Given the description of an element on the screen output the (x, y) to click on. 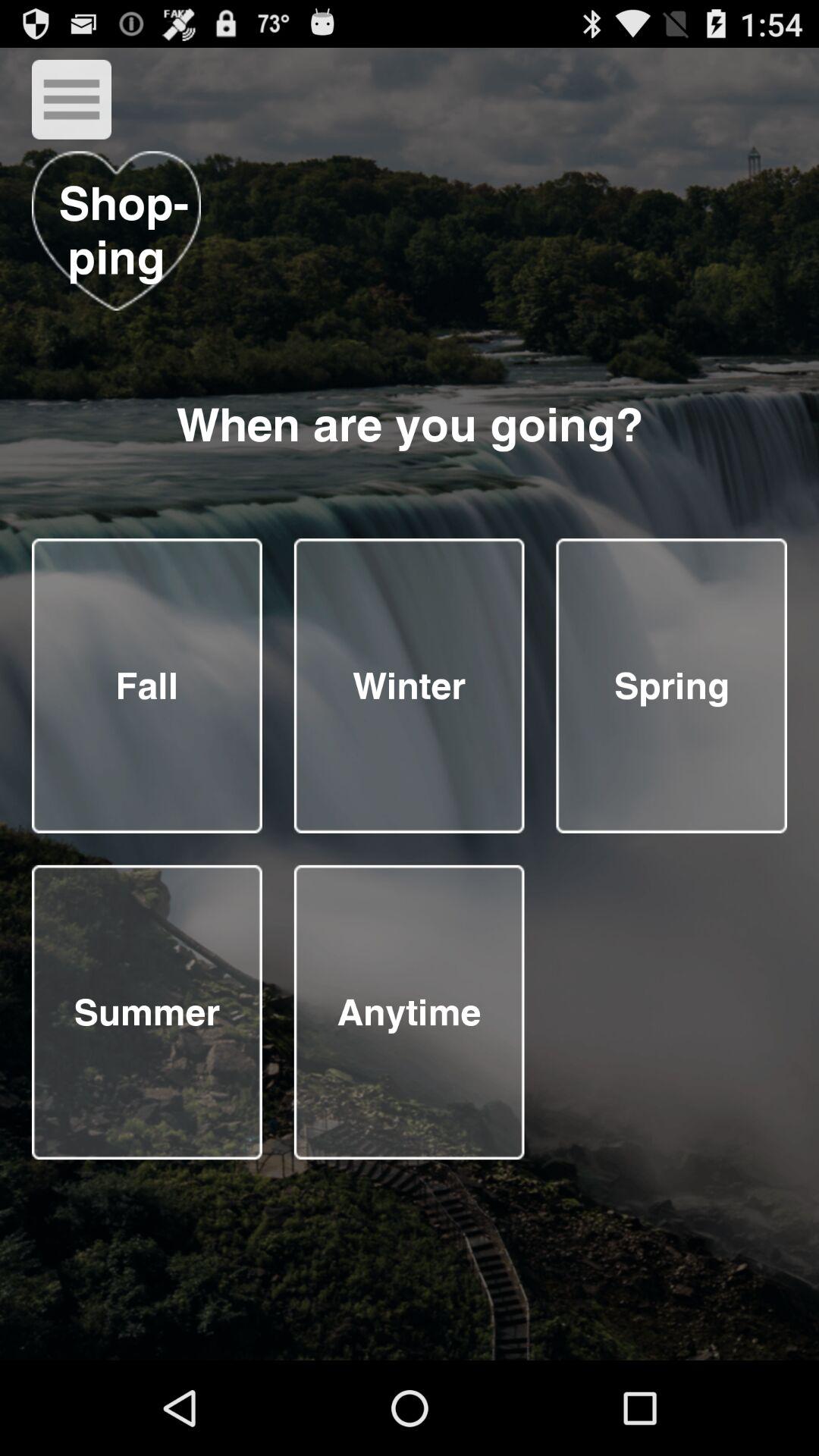
season button (409, 1012)
